Given the description of an element on the screen output the (x, y) to click on. 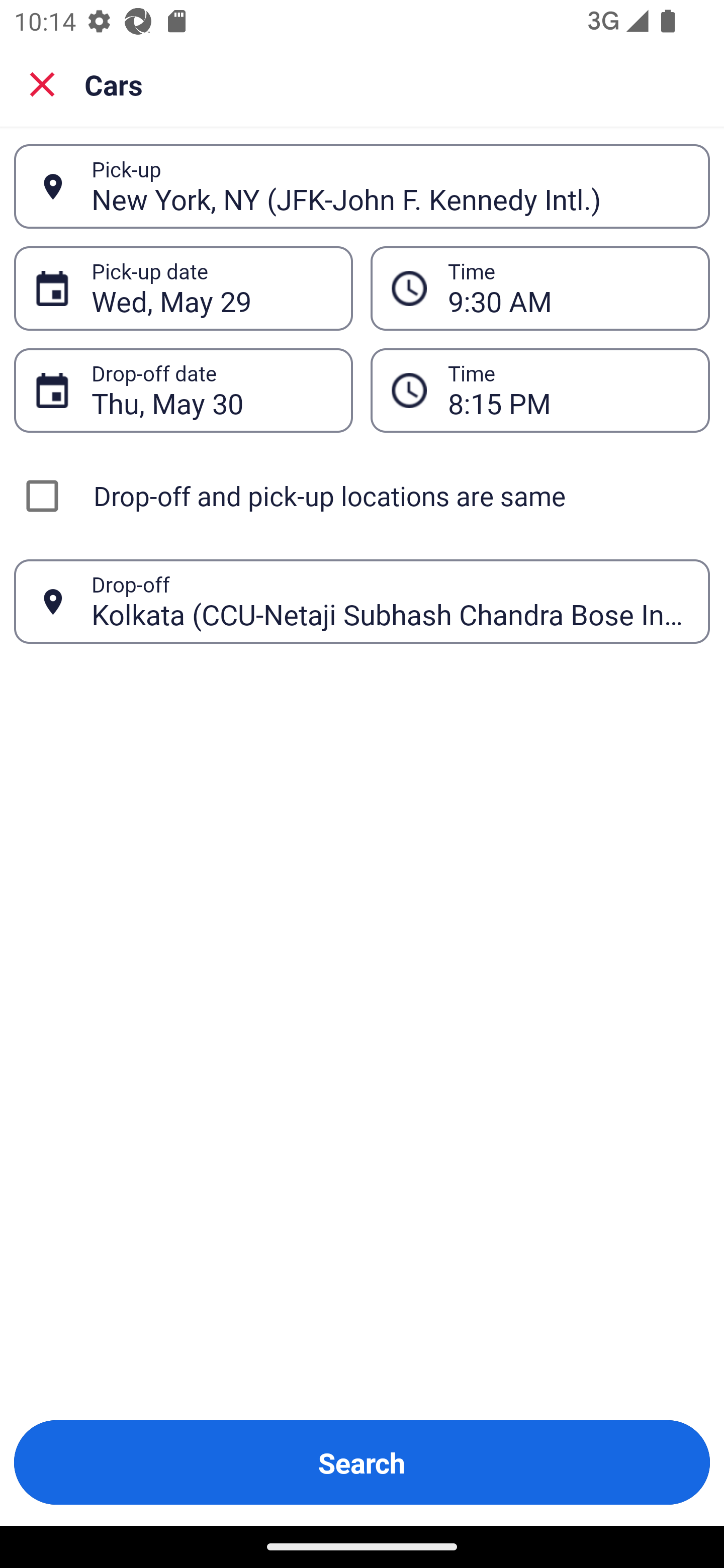
Close search screen (41, 83)
New York, NY (JFK-John F. Kennedy Intl.) Pick-up (361, 186)
New York, NY (JFK-John F. Kennedy Intl.) (389, 186)
Wed, May 29 Pick-up date (183, 288)
9:30 AM (540, 288)
Wed, May 29 (211, 288)
9:30 AM (568, 288)
Thu, May 30 Drop-off date (183, 390)
8:15 PM (540, 390)
Thu, May 30 (211, 390)
8:15 PM (568, 390)
Drop-off and pick-up locations are same (361, 495)
Kolkata (CCU-Netaji Subhash Chandra Bose Intl.) (389, 601)
Search Button Search (361, 1462)
